Given the description of an element on the screen output the (x, y) to click on. 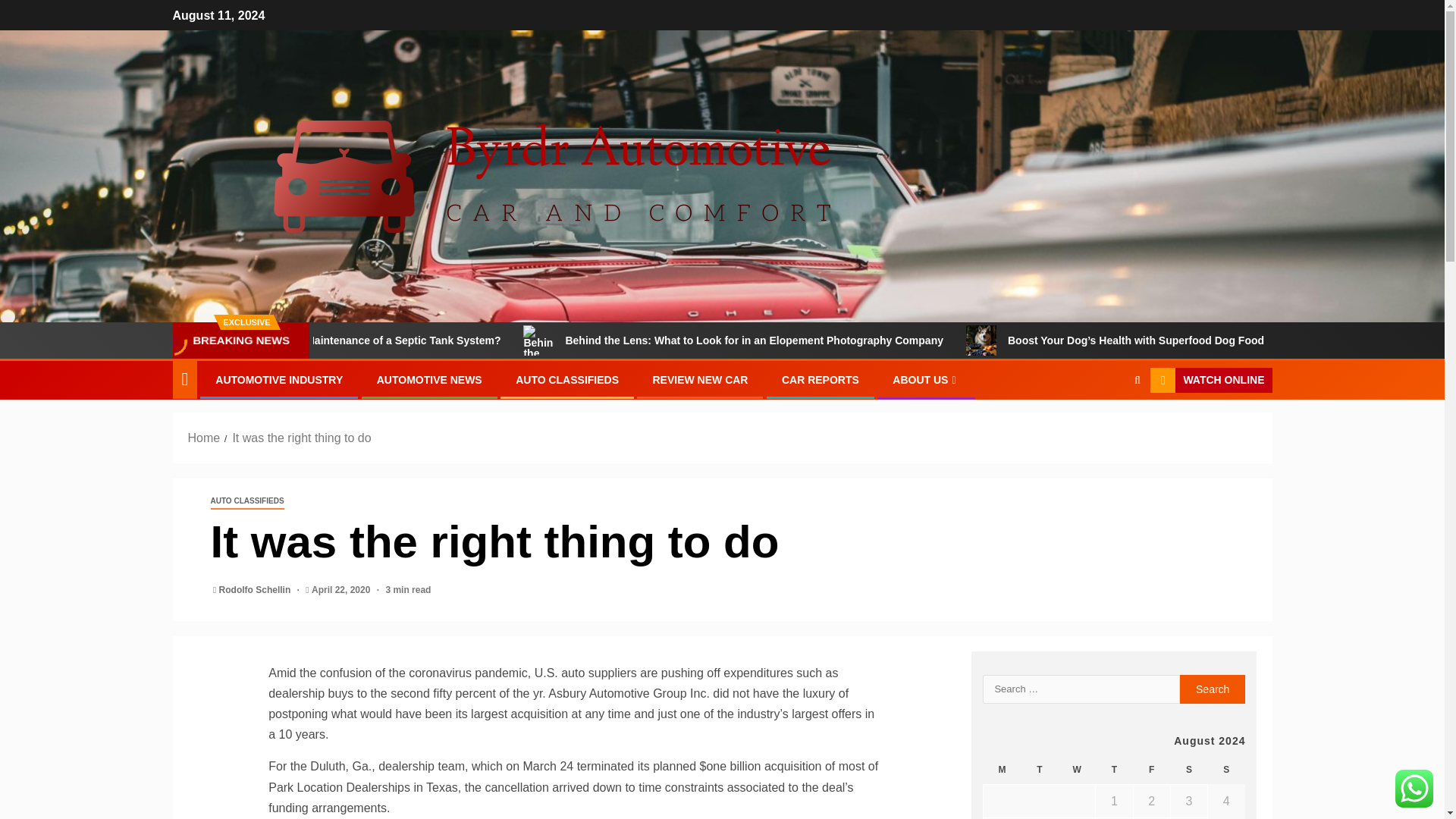
Rodolfo Schellin (256, 589)
How to Improve Maintenance of a Septic Tank System? (479, 340)
Home (204, 437)
Search (1212, 688)
Search (1212, 688)
AUTOMOTIVE INDUSTRY (278, 379)
AUTO CLASSIFIEDS (247, 501)
AUTO CLASSIFIEDS (566, 379)
WATCH ONLINE (1210, 380)
